Given the description of an element on the screen output the (x, y) to click on. 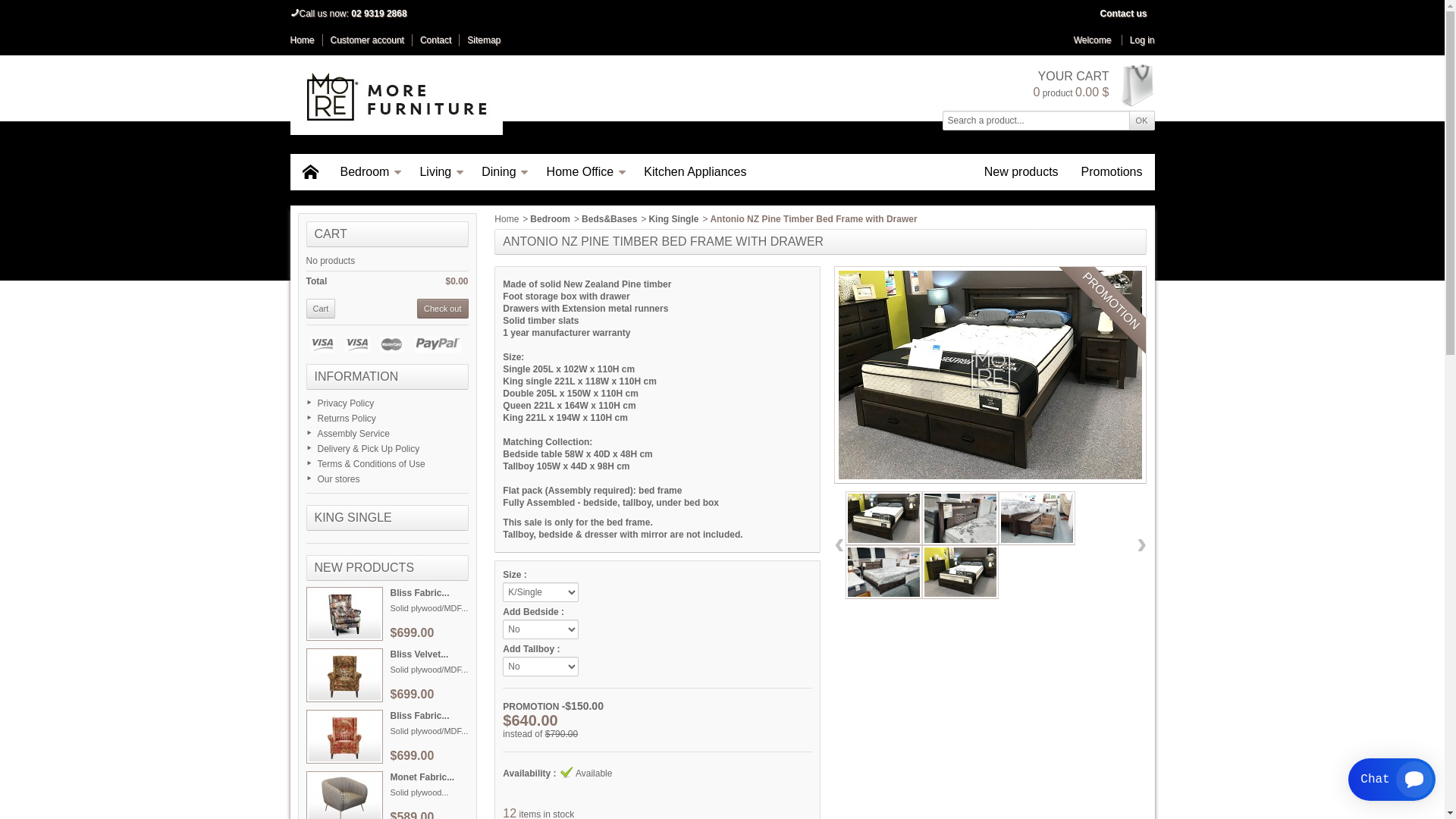
Antonio NZ Pine Timber Bed Frame with Drawer Element type: hover (989, 374)
Privacy Policy Element type: text (344, 403)
Contact Element type: text (435, 39)
Kitchen Appliances Element type: text (694, 171)
Antonio NZ Pine Timber Bed Frame with 2 Drawers Element type: hover (883, 572)
Promotions Element type: text (1112, 171)
Delivery & Pick Up Policy Element type: text (367, 448)
Home Office Element type: text (584, 171)
Bedroom Element type: text (550, 218)
New products Element type: text (1021, 171)
Antonio NZ Pine Timber Bed Frame with 2 Drawers Element type: hover (883, 518)
Bliss Fabric... Element type: text (418, 715)
Returns Policy Element type: text (345, 418)
Dining Element type: text (502, 171)
OK Element type: text (1141, 120)
Living Element type: text (438, 171)
Bliss Velvet... Element type: text (418, 654)
Bedroom Element type: text (368, 171)
Our stores Element type: text (337, 478)
Home Element type: text (506, 218)
Antonio NZ Pine Timber Bed Frame with 2 Drawers Element type: hover (1036, 518)
Check out Element type: text (442, 308)
Customer account Element type: text (367, 39)
King Single Element type: text (673, 218)
Monet Fabric... Element type: text (421, 776)
Antonio NZ Pine Timber Bed Frame with 2 Drawers Element type: hover (960, 572)
Bliss Fabric... Element type: text (418, 592)
Log in Element type: text (1137, 39)
NEW PRODUCTS Element type: text (363, 567)
Sitemap Element type: text (483, 39)
INFORMATION Element type: text (355, 376)
Contact us Element type: text (1123, 13)
Smartsupp widget button Element type: hover (1391, 779)
More Furniture Pty Ltd Element type: hover (395, 96)
YOUR CART
0 product 0.00 $ Element type: text (1093, 84)
Home Element type: hover (310, 171)
Cart Element type: text (320, 308)
Antonio NZ Pine Timber Bed Frame with 2 Drawers Element type: hover (960, 518)
CART Element type: text (329, 233)
Bliss Fabric Wing Chair Bird Chinoiserie Digital Print Element type: hover (344, 736)
Assembly Service Element type: text (352, 433)
Bliss Fabric Wing Chair Digital Print Patchwork Element type: hover (344, 613)
Beds&Bases Element type: text (609, 218)
Home Element type: text (301, 39)
Bliss Velvet Wing Chair Chinoiserie Pheasant Digital Print Element type: hover (344, 675)
Terms & Conditions of Use Element type: text (370, 463)
